Given the description of an element on the screen output the (x, y) to click on. 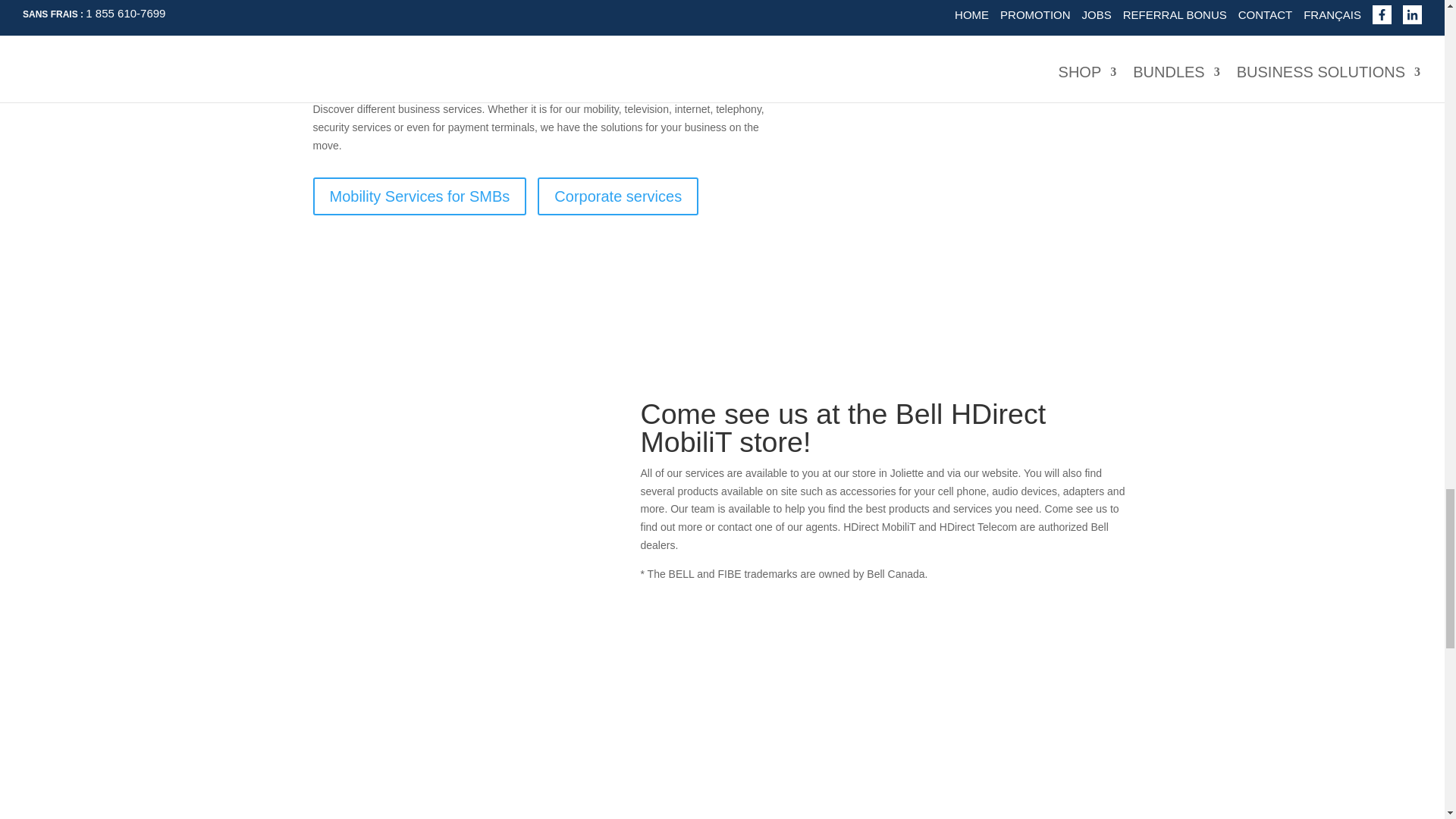
Corporate services (617, 196)
Mobility Services for SMBs (419, 196)
